Given the description of an element on the screen output the (x, y) to click on. 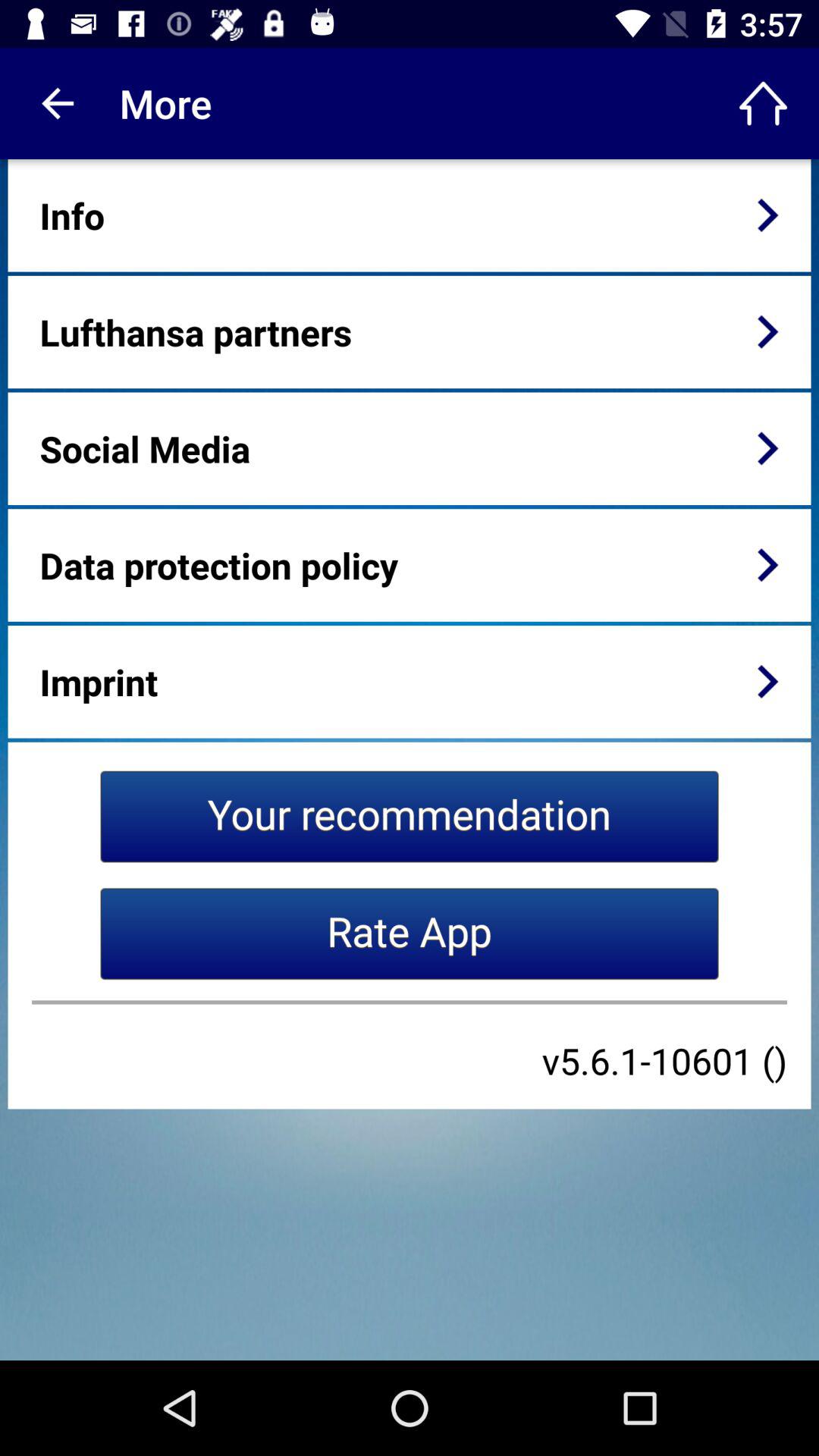
select item to the right of data protection policy icon (768, 564)
